Given the description of an element on the screen output the (x, y) to click on. 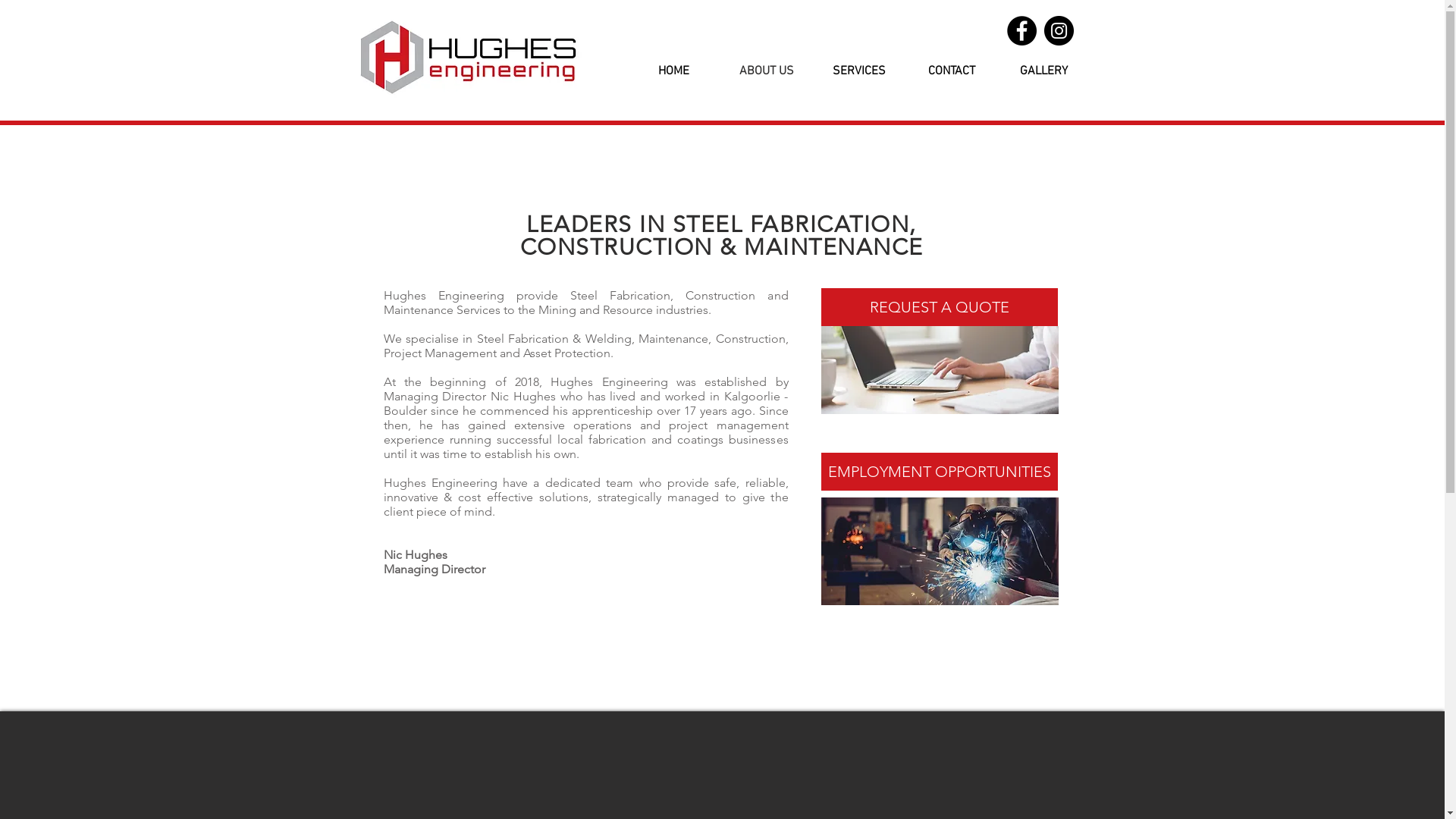
EMPLOYMENT OPPORTUNITIES Element type: text (938, 471)
GALLERY Element type: text (1043, 71)
SERVICES Element type: text (858, 71)
REQUEST A QUOTE Element type: text (938, 307)
HOME Element type: text (673, 71)
ABOUT US Element type: text (766, 71)
CONTACT Element type: text (951, 71)
